Given the description of an element on the screen output the (x, y) to click on. 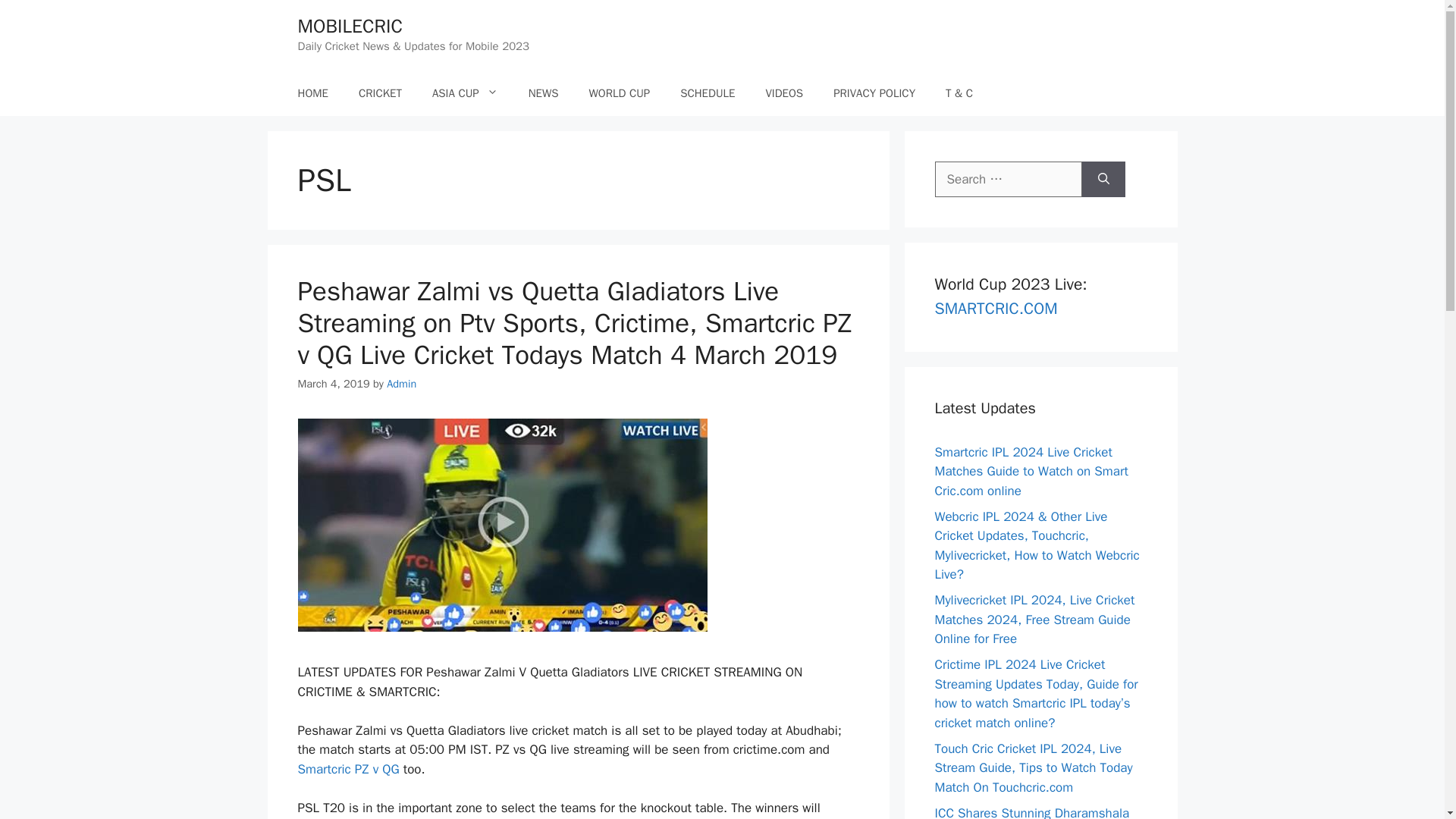
HOME (312, 92)
ASIA CUP (464, 92)
WORLD CUP (619, 92)
SCHEDULE (707, 92)
MOBILECRIC (349, 25)
VIDEOS (783, 92)
CRICKET (379, 92)
View all posts by Admin (401, 383)
Smartcric PZ v QG (347, 769)
PRIVACY POLICY (874, 92)
NEWS (543, 92)
Admin (401, 383)
Search for: (1007, 178)
